Given the description of an element on the screen output the (x, y) to click on. 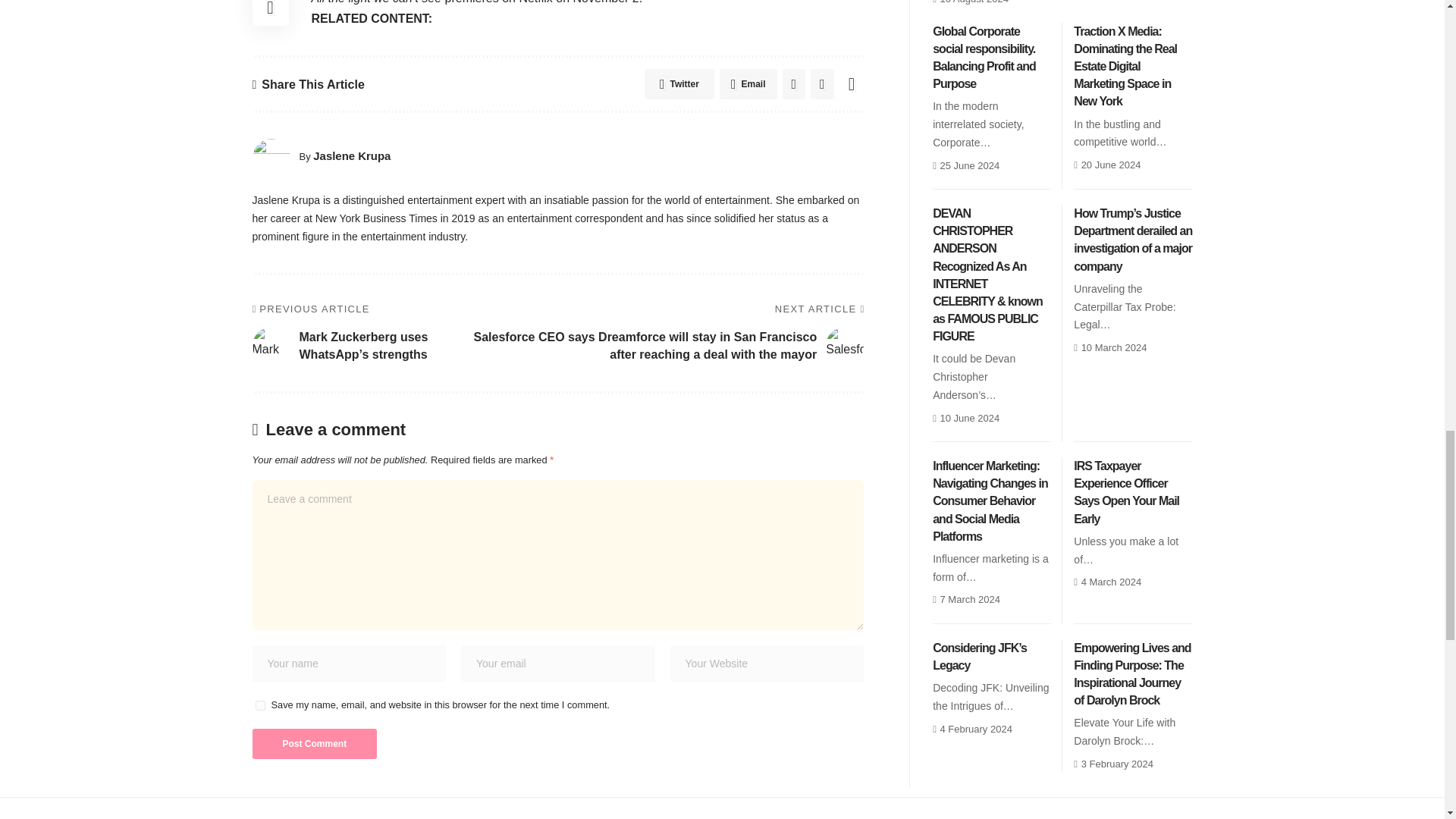
yes (259, 705)
Post Comment (314, 743)
